Given the description of an element on the screen output the (x, y) to click on. 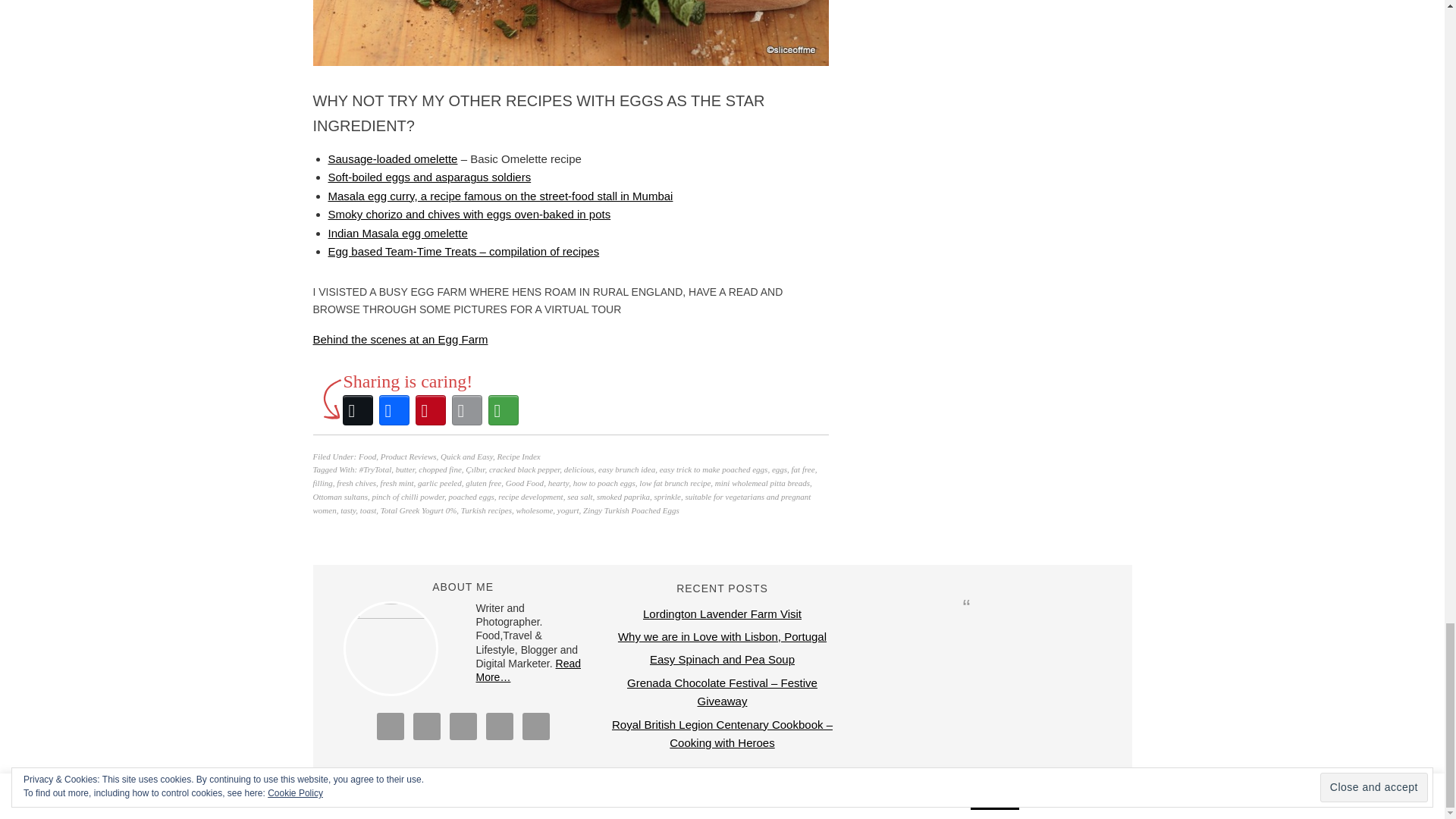
Facebook (393, 410)
Pinterest (430, 410)
